Given the description of an element on the screen output the (x, y) to click on. 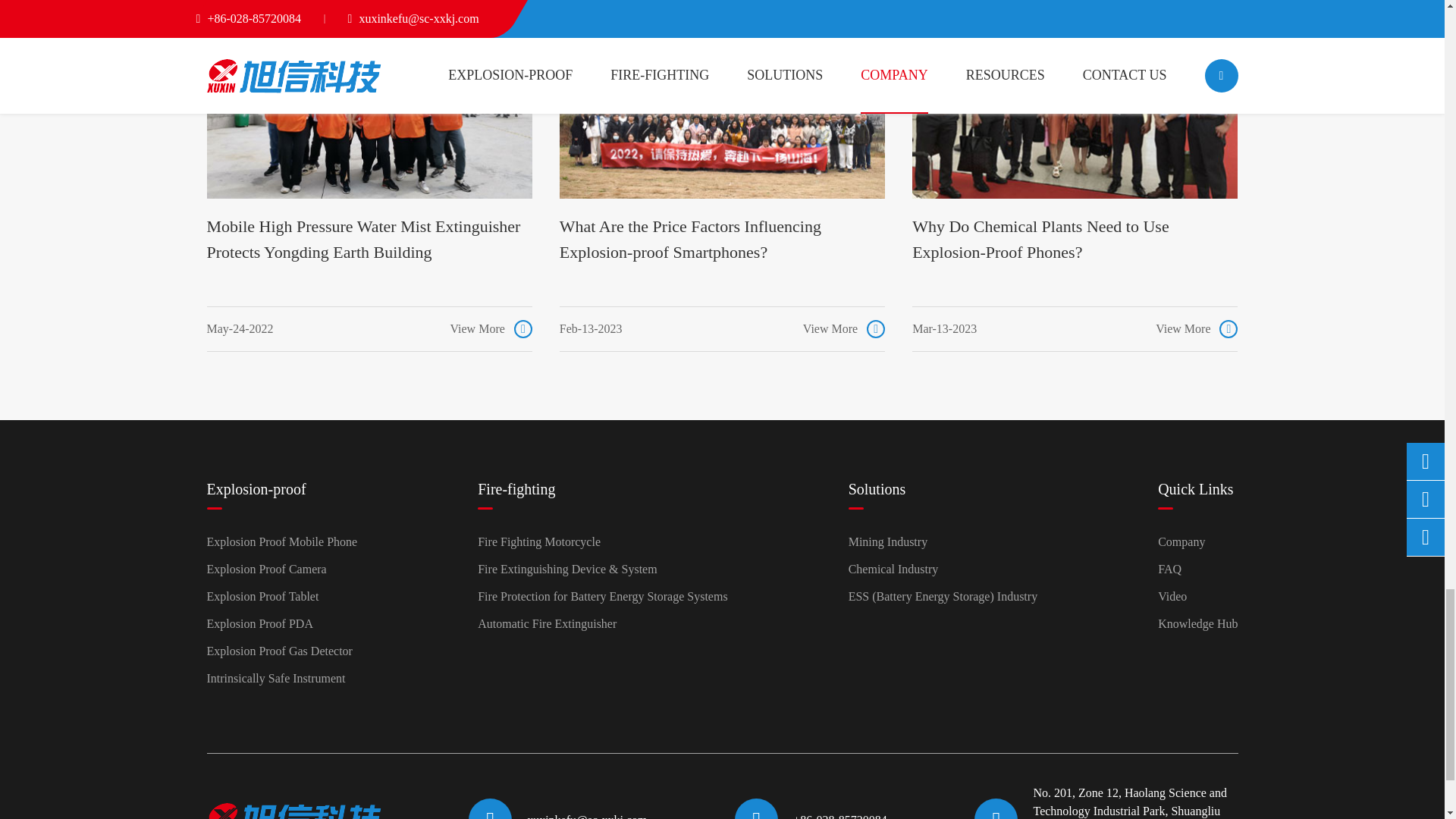
Why Do Chemical Plants Need to Use Explosion-Proof Phones? (1074, 99)
